Given the description of an element on the screen output the (x, y) to click on. 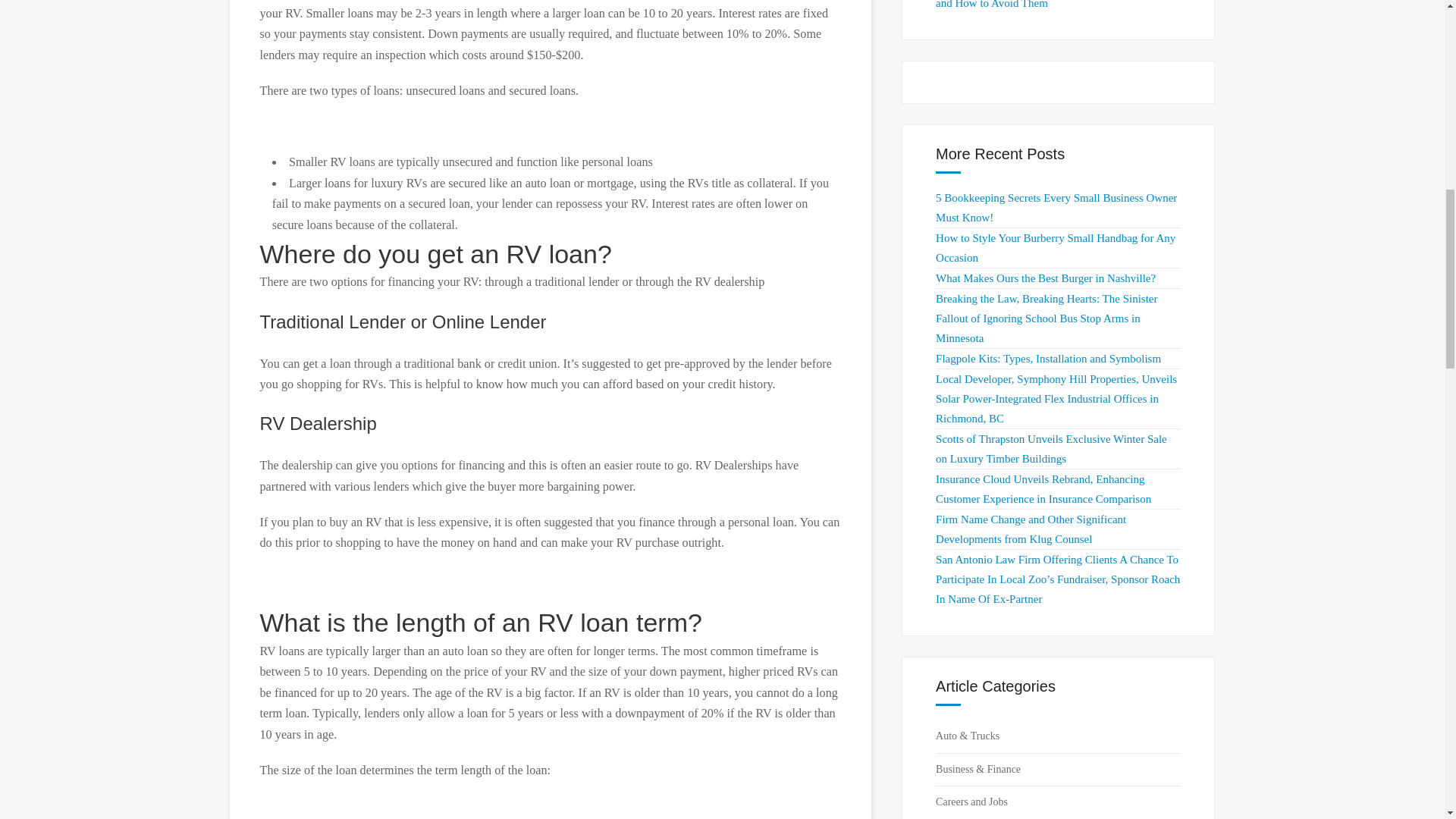
What Makes Ours the Best Burger in Nashville? (1046, 277)
How to Style Your Burberry Small Handbag for Any Occasion (1055, 247)
Flagpole Kits: Types, Installation and Symbolism (1048, 358)
5 Bookkeeping Secrets Every Small Business Owner Must Know! (1056, 207)
